Given the description of an element on the screen output the (x, y) to click on. 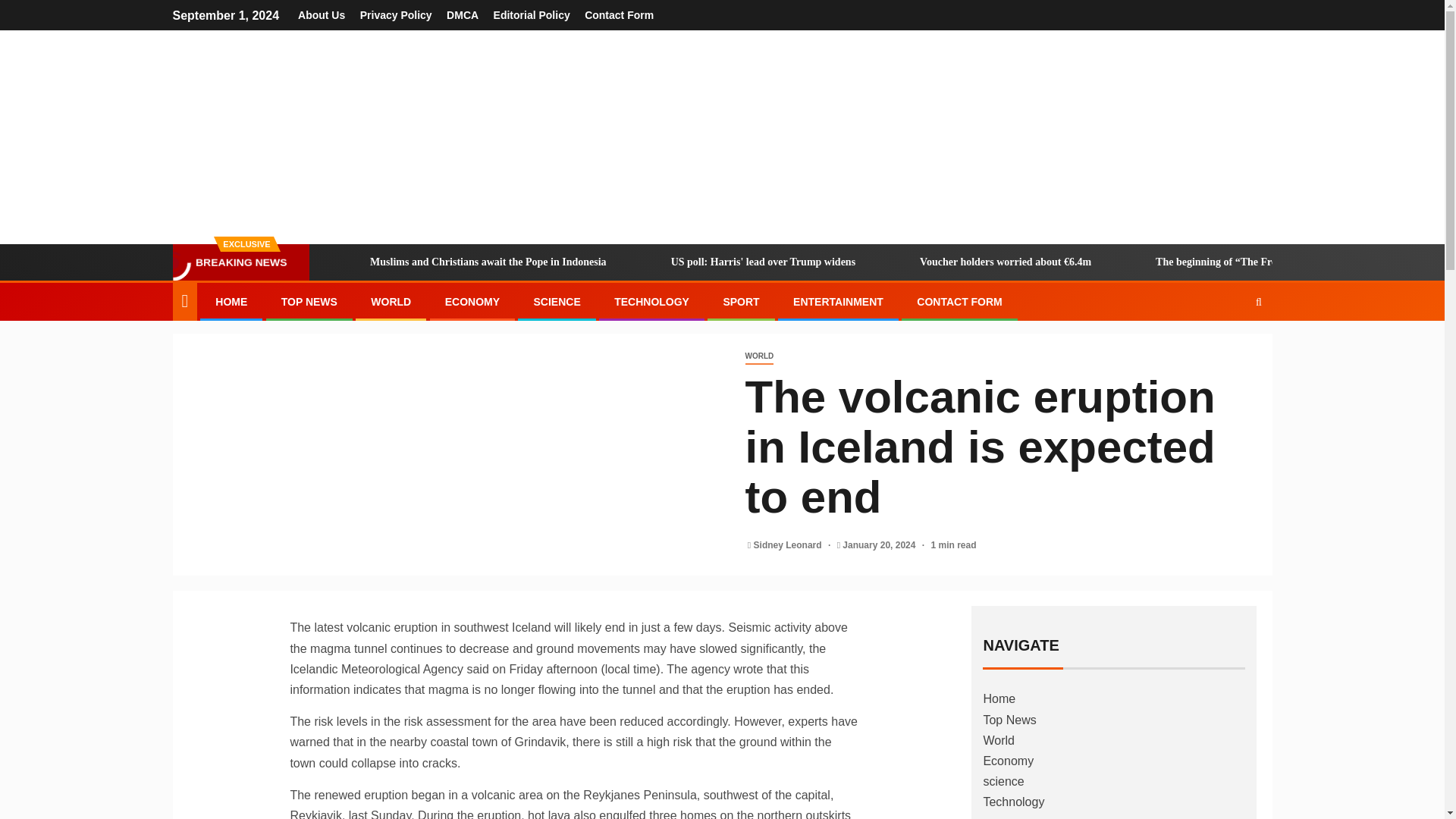
SPORT (740, 301)
Contact Form (619, 15)
DMCA (462, 15)
WORLD (758, 356)
About Us (321, 15)
TECHNOLOGY (651, 301)
HOME (231, 301)
CONTACT FORM (960, 301)
Muslims and Christians await the Pope in Indonesia (343, 262)
Sidney Leonard (789, 544)
